Given the description of an element on the screen output the (x, y) to click on. 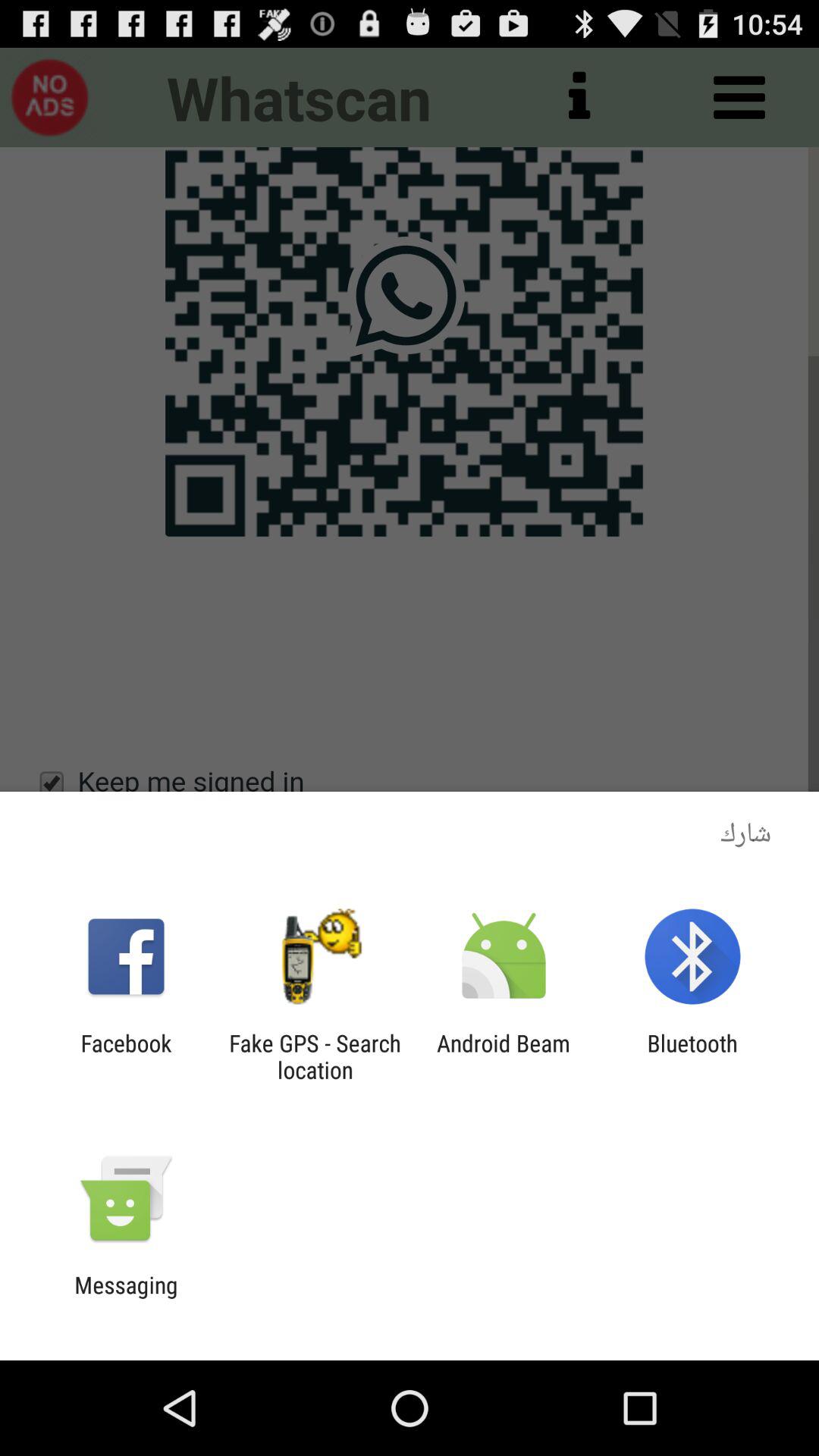
click facebook (125, 1056)
